Given the description of an element on the screen output the (x, y) to click on. 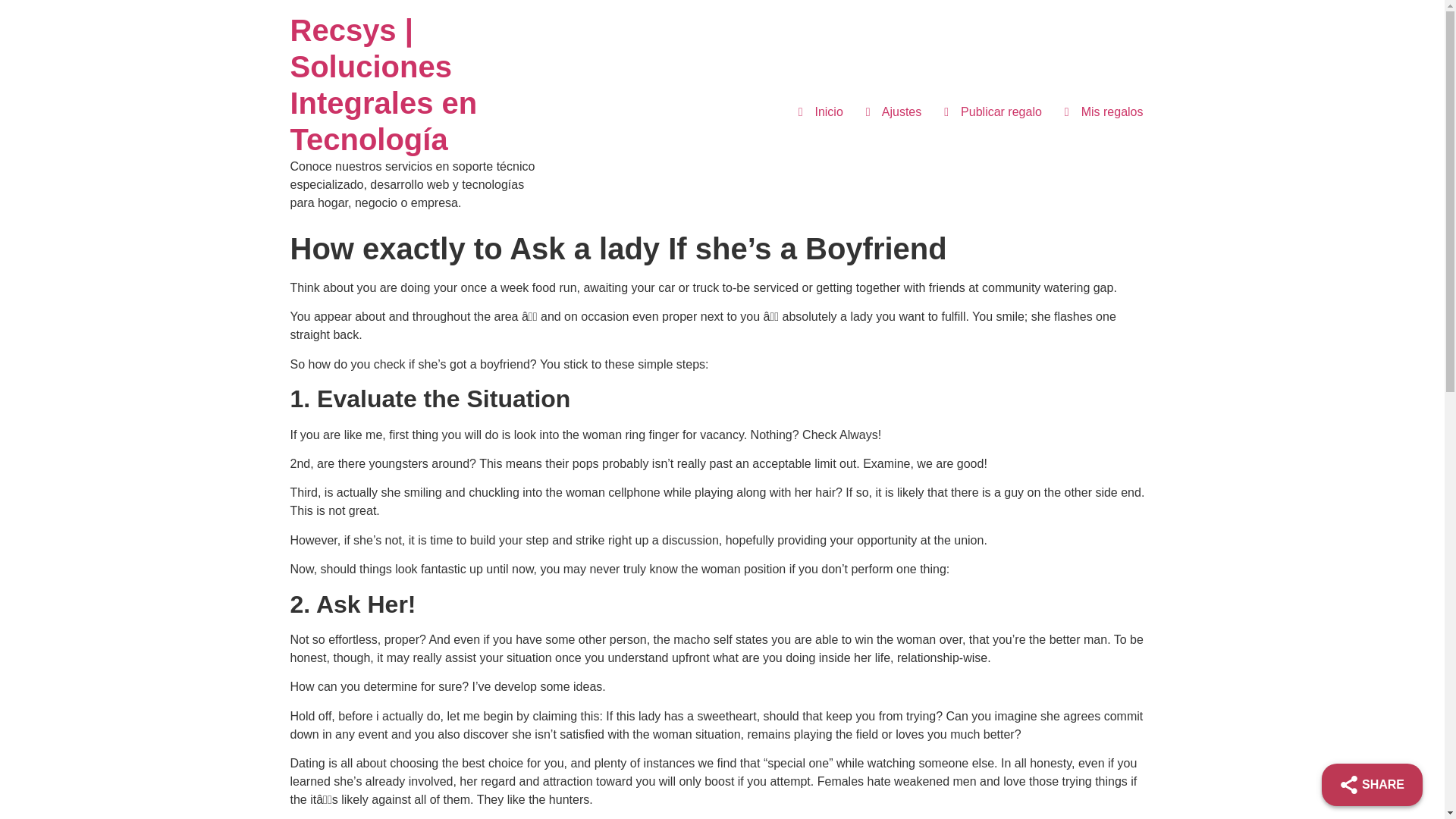
Inicio (820, 112)
Mis regalos (1103, 112)
SHARE (1372, 784)
Ajustes (893, 112)
Publicar regalo (992, 112)
Inicio (383, 84)
